Given the description of an element on the screen output the (x, y) to click on. 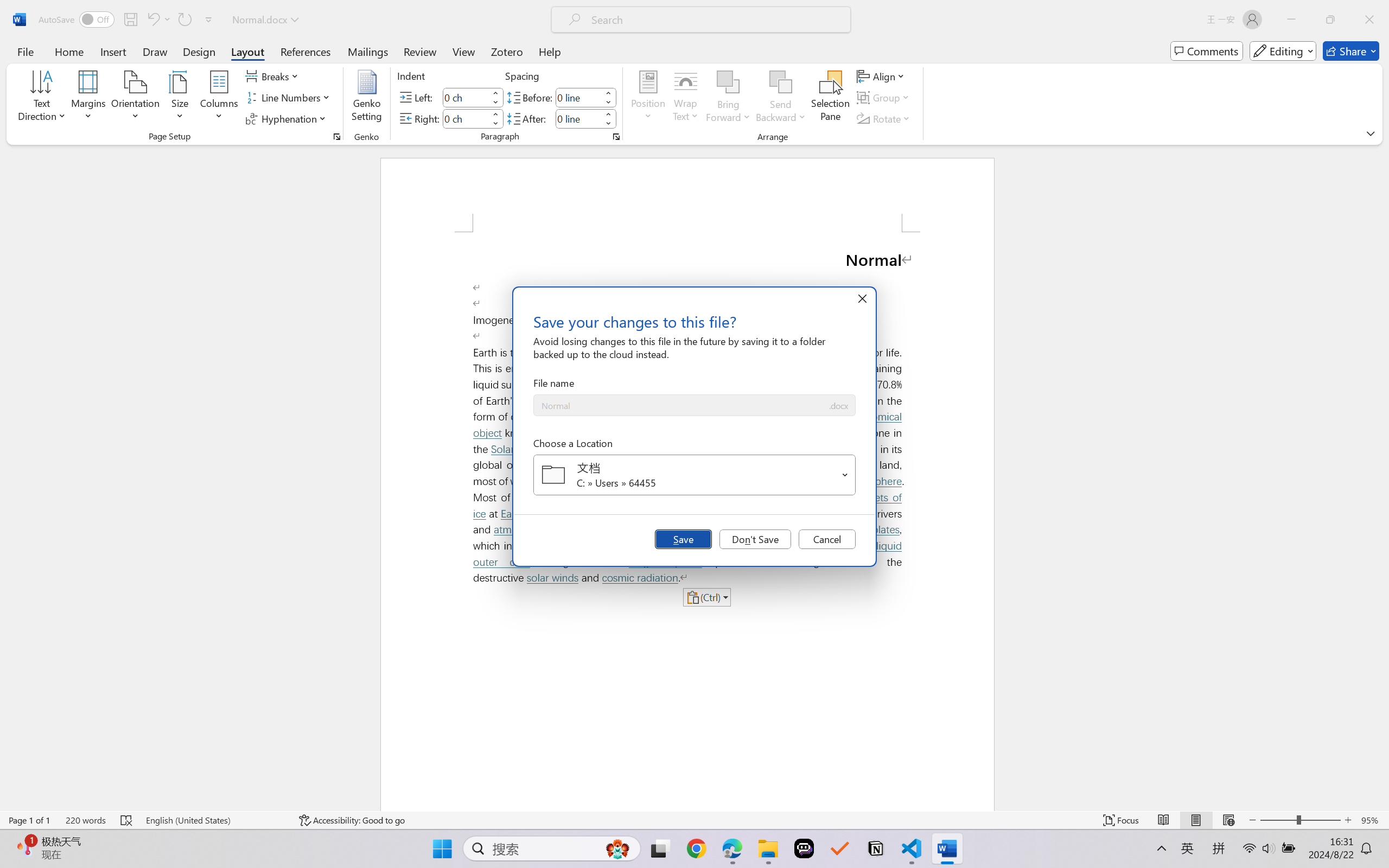
Bring Forward (728, 81)
Send Backward (781, 81)
Spacing Before (578, 96)
Undo Paste Destination Formatting (152, 19)
